Given the description of an element on the screen output the (x, y) to click on. 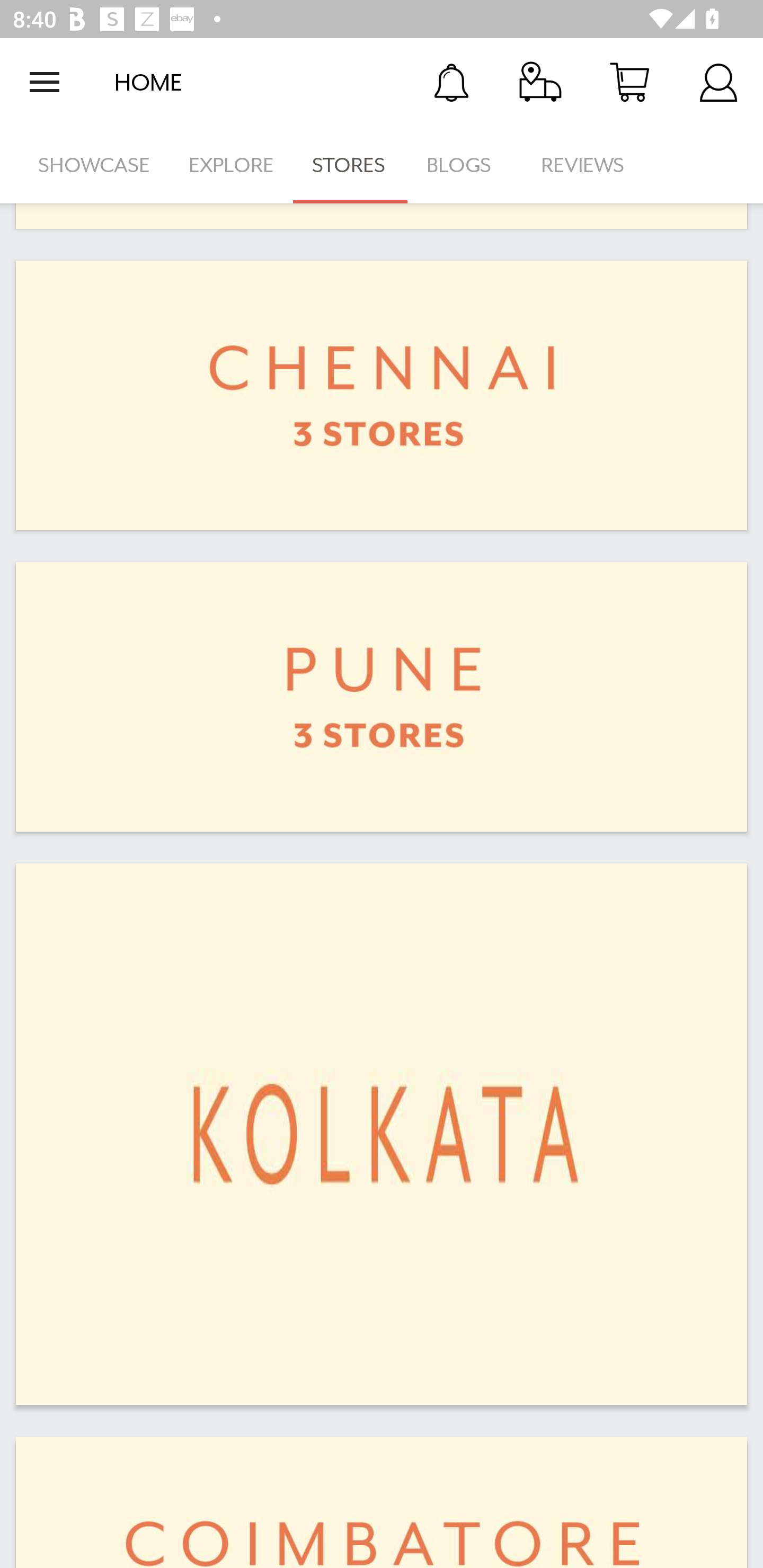
Open navigation drawer (44, 82)
Notification (450, 81)
Track Order (540, 81)
Cart (629, 81)
Account Details (718, 81)
SHOWCASE (94, 165)
EXPLORE (230, 165)
STORES (349, 165)
BLOGS (464, 165)
REVIEWS (582, 165)
